Given the description of an element on the screen output the (x, y) to click on. 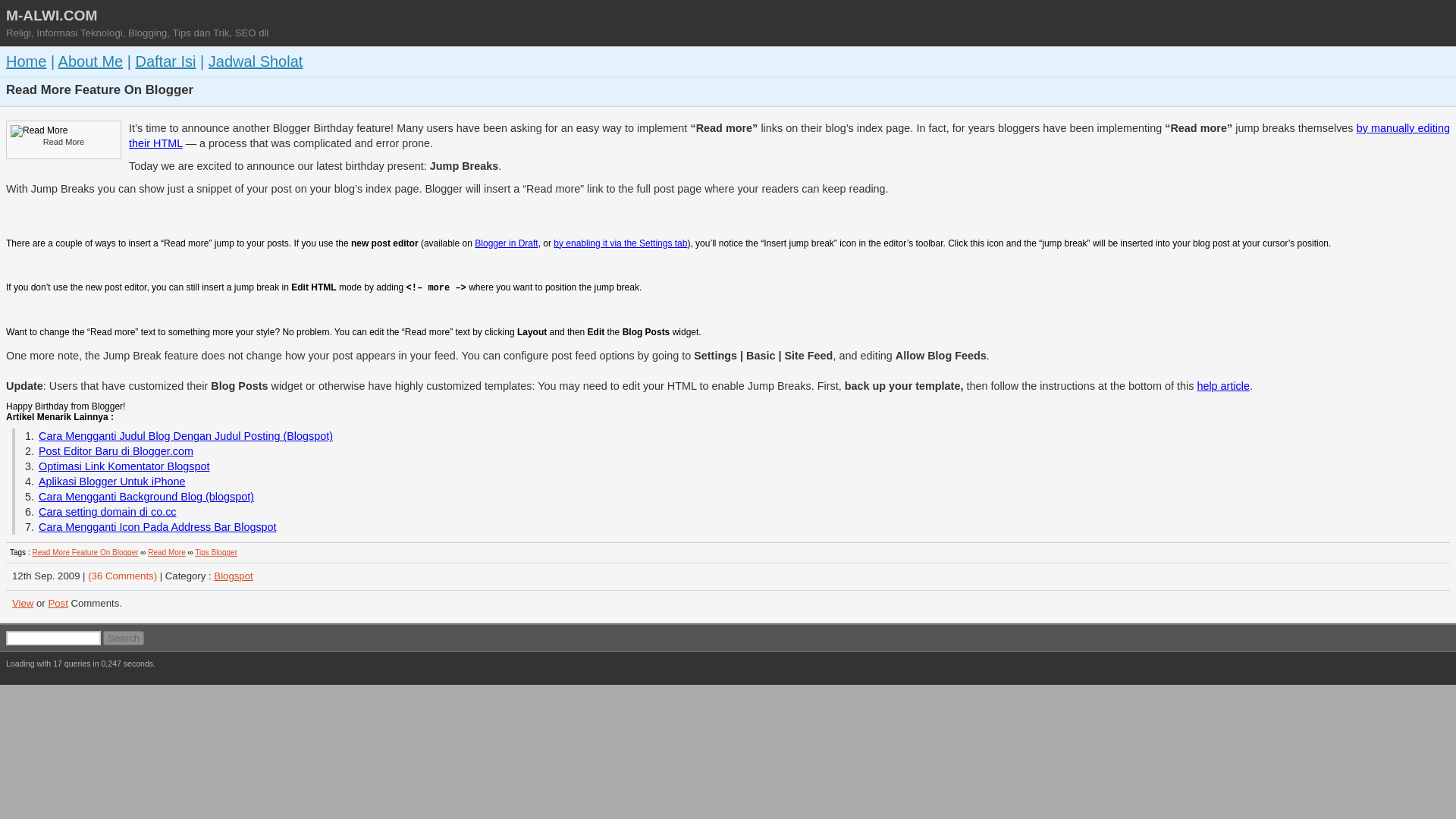
About Me, Alwi (90, 61)
Home (25, 61)
Blogger in Draft (505, 243)
Blogspot (232, 575)
Optimasi Link Komentator Blogspot (124, 466)
Daftar Isi (165, 61)
Aplikasi Blogger Untuk iPhone (112, 481)
 Search  (123, 637)
by enabling it via the Settings tab (620, 243)
Read More Feature On Blogger (85, 551)
Jadwal Sholat (255, 61)
Daftar Isi Blog (165, 61)
View (22, 603)
M-ALWI.COM (51, 15)
Home (25, 61)
